Given the description of an element on the screen output the (x, y) to click on. 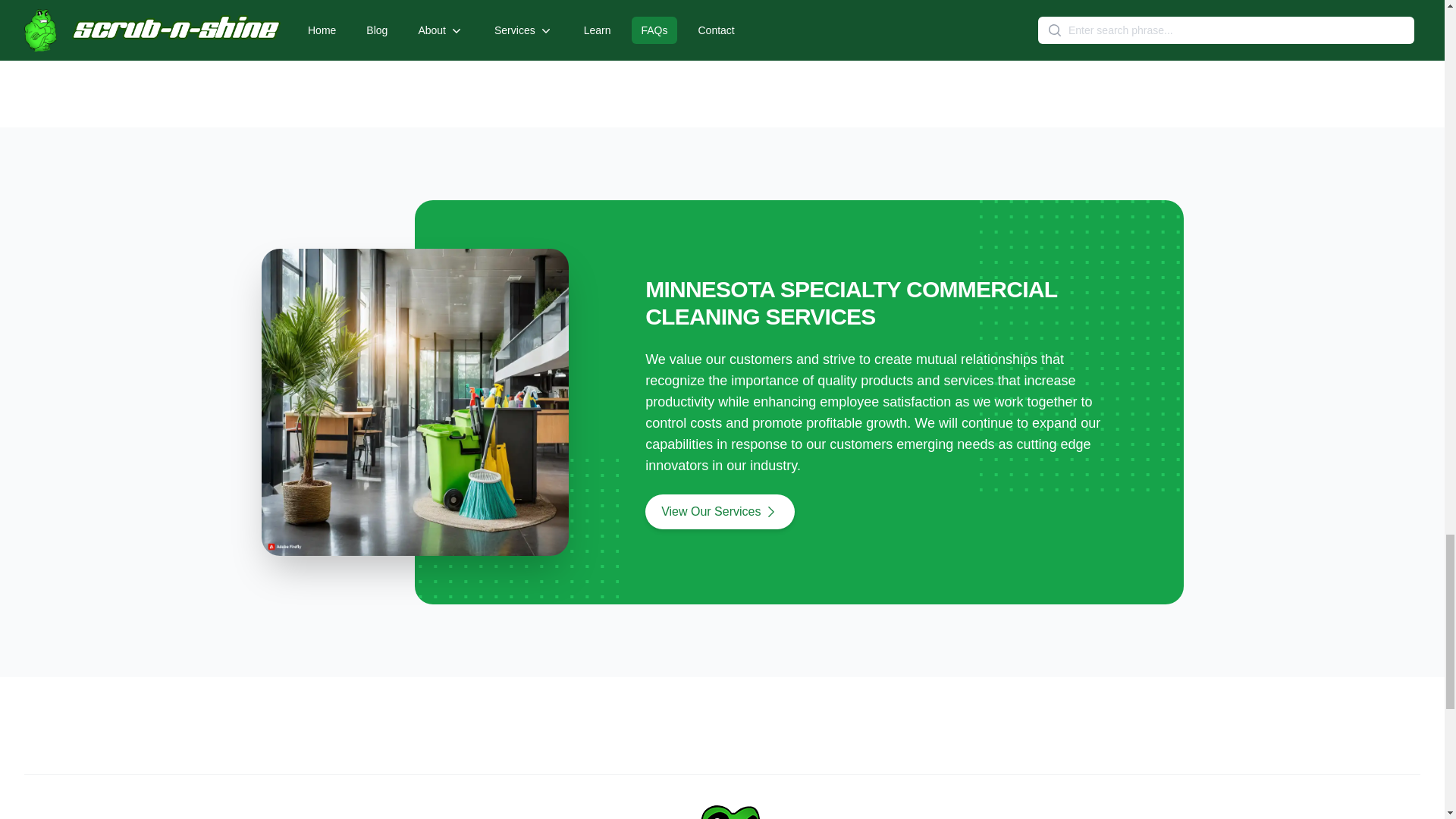
View Full Answer (788, 10)
View Our Services (719, 511)
